Given the description of an element on the screen output the (x, y) to click on. 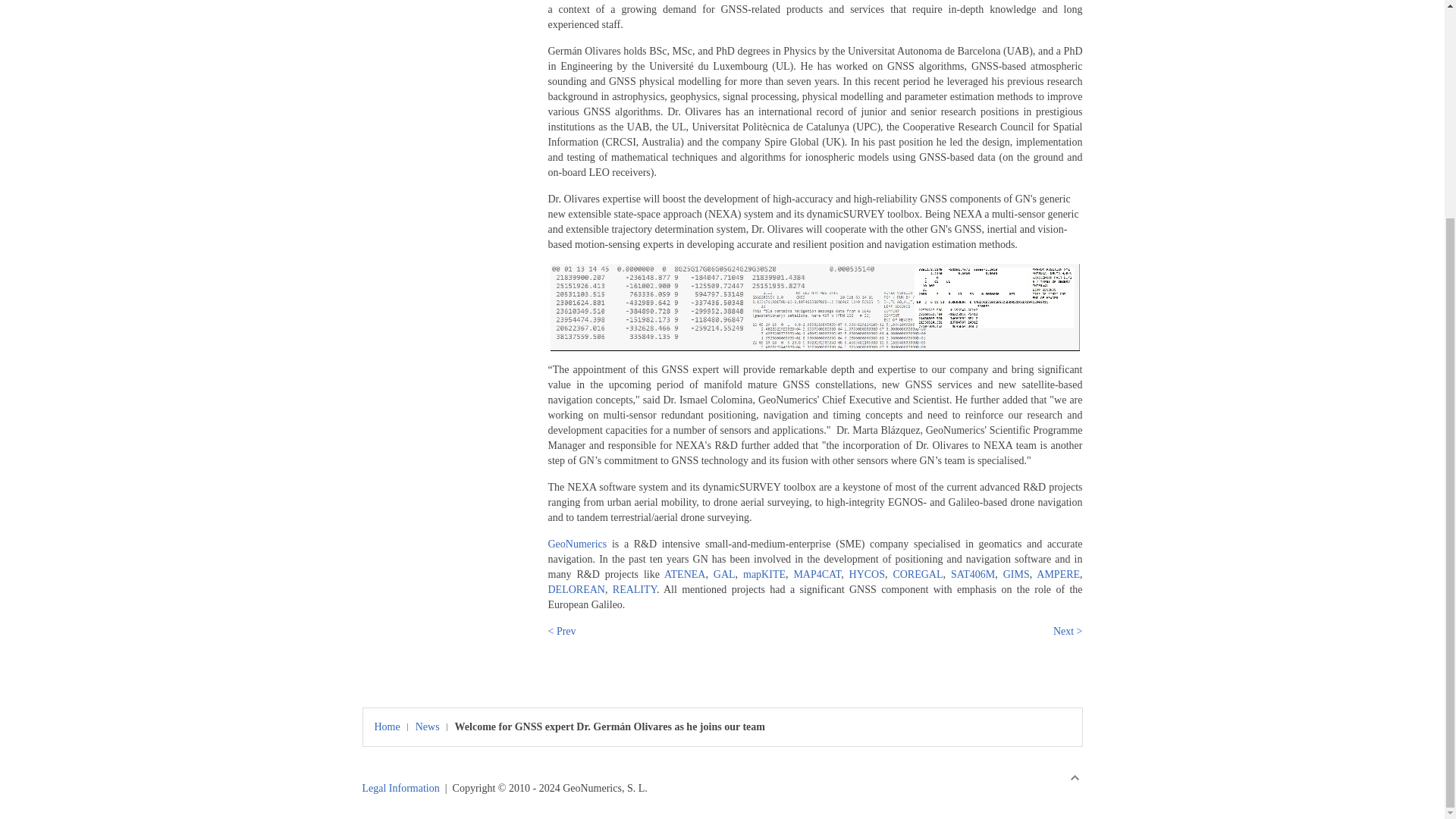
COREGAL (917, 573)
ATENEA (683, 573)
MAP4CAT (817, 573)
GIMS (1016, 573)
News (430, 726)
GN (577, 543)
SAT406M (972, 573)
GeoNumerics (577, 543)
GIMS (1016, 573)
GAL (724, 573)
DELOREAN (575, 589)
Legal Information (400, 787)
delorean (575, 589)
Home (390, 726)
AMPERE (1058, 573)
